Given the description of an element on the screen output the (x, y) to click on. 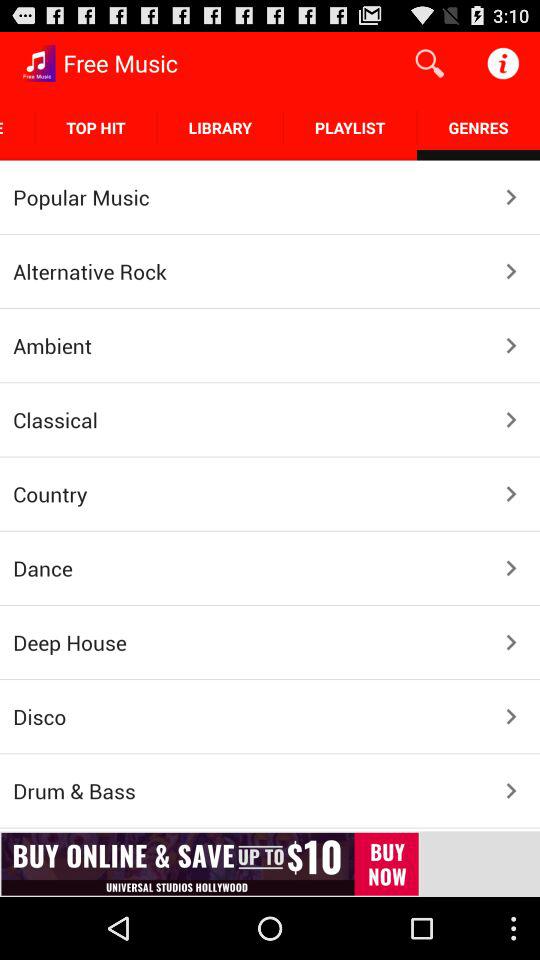
open the advertisement (270, 864)
